Given the description of an element on the screen output the (x, y) to click on. 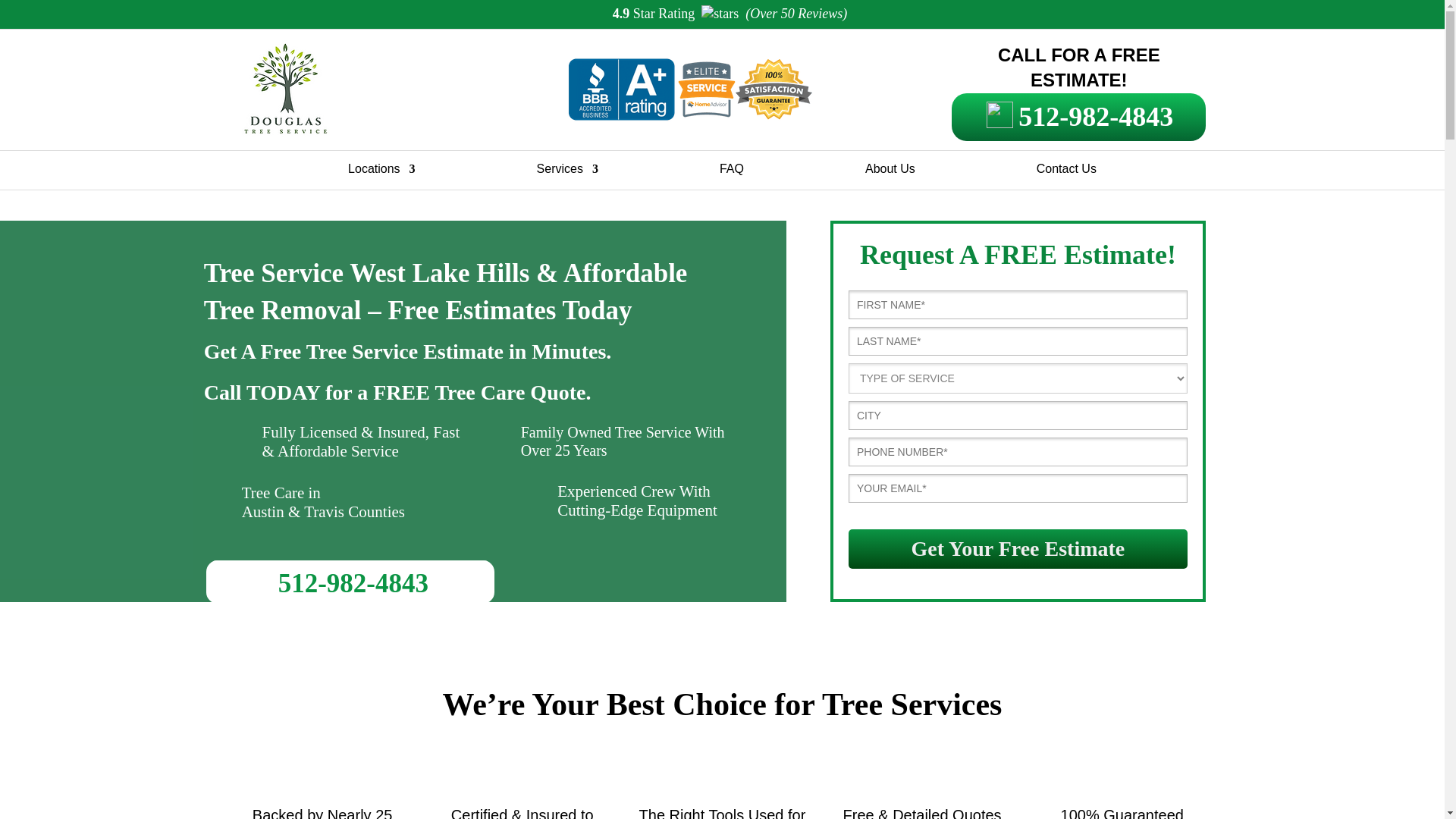
Locations (380, 172)
512-982-4843 (1078, 116)
Services (567, 172)
Get Your Free Estimate (1018, 548)
About Us (889, 172)
logos (689, 89)
Contact Us (1066, 172)
512-982-4843 (353, 583)
